Given the description of an element on the screen output the (x, y) to click on. 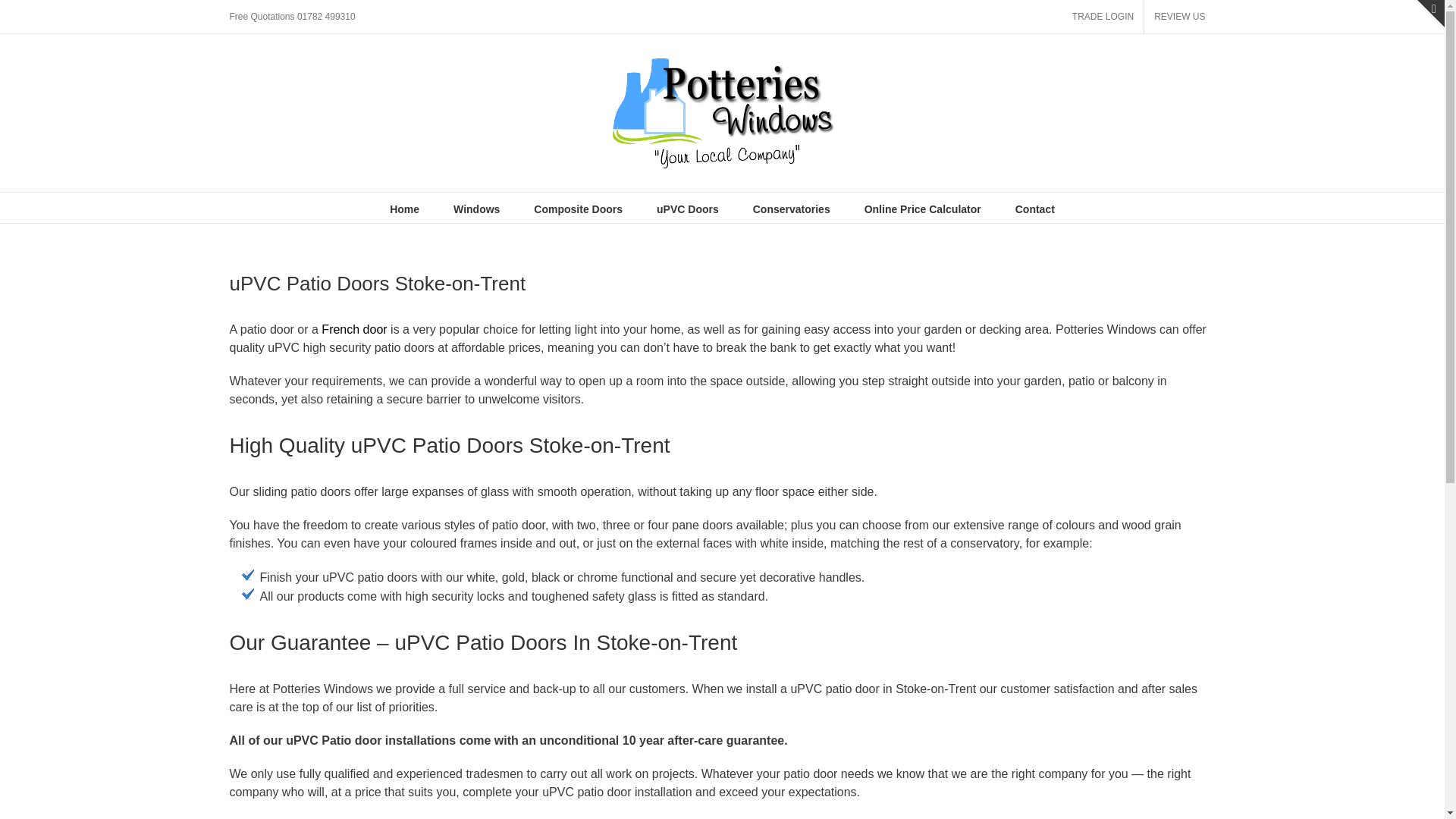
uPVC Doors (687, 207)
uPVC Doors Installed in Stoke-on-Trent (687, 207)
Contact Potteries Windows Stoke-on-Trent (1034, 207)
Windows (475, 207)
Composite Doors (578, 207)
Conservatories (790, 207)
Online Composite Door Price Calculator Stoke-on-Trent (578, 207)
Contact (1034, 207)
Home (404, 207)
